Given the description of an element on the screen output the (x, y) to click on. 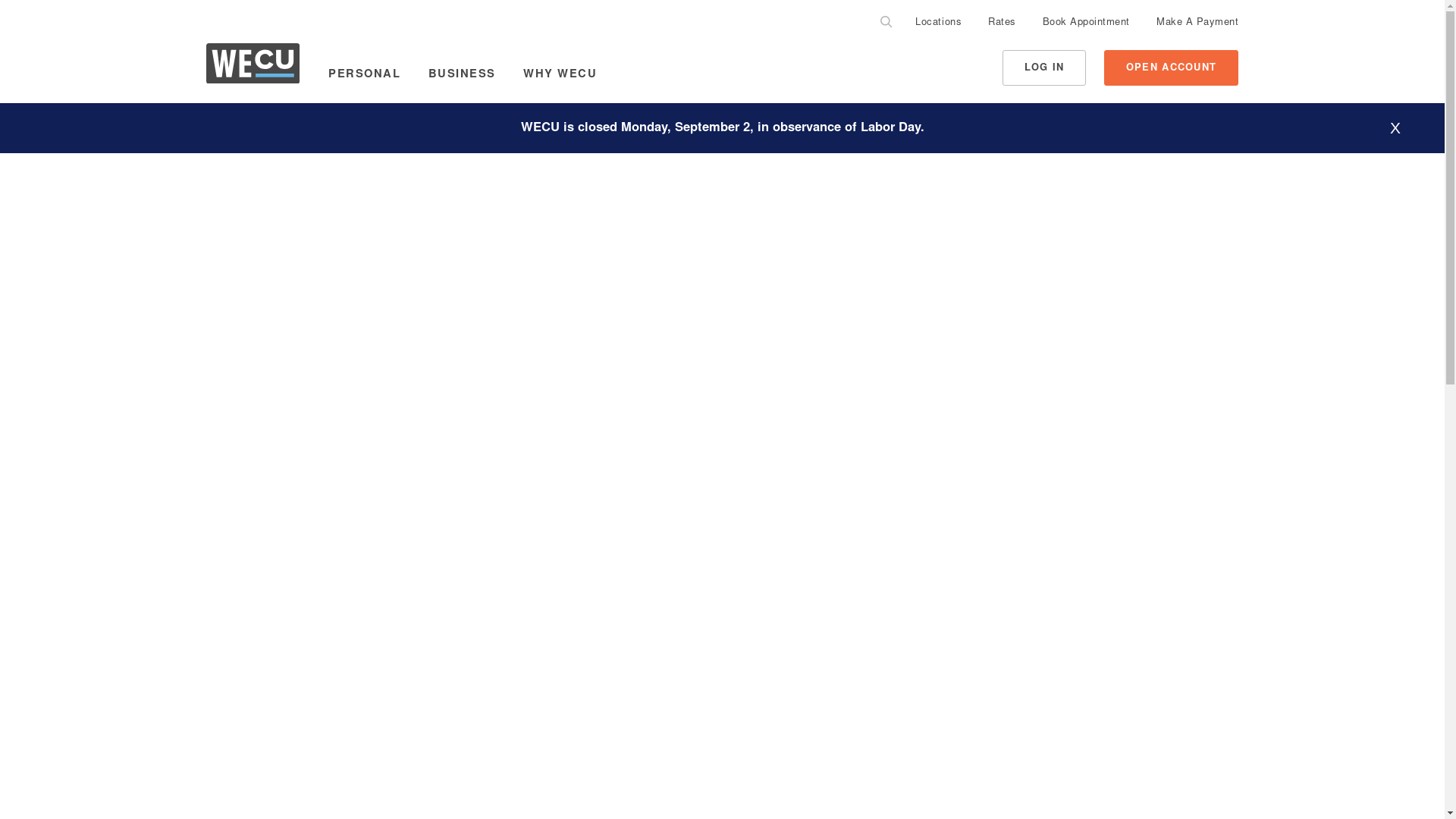
WHY WECU (559, 75)
Rates (1002, 23)
Make A Payment (1197, 23)
BUSINESS (462, 75)
PERSONAL (364, 75)
Book Appointment (1085, 23)
Locations (937, 23)
